Given the description of an element on the screen output the (x, y) to click on. 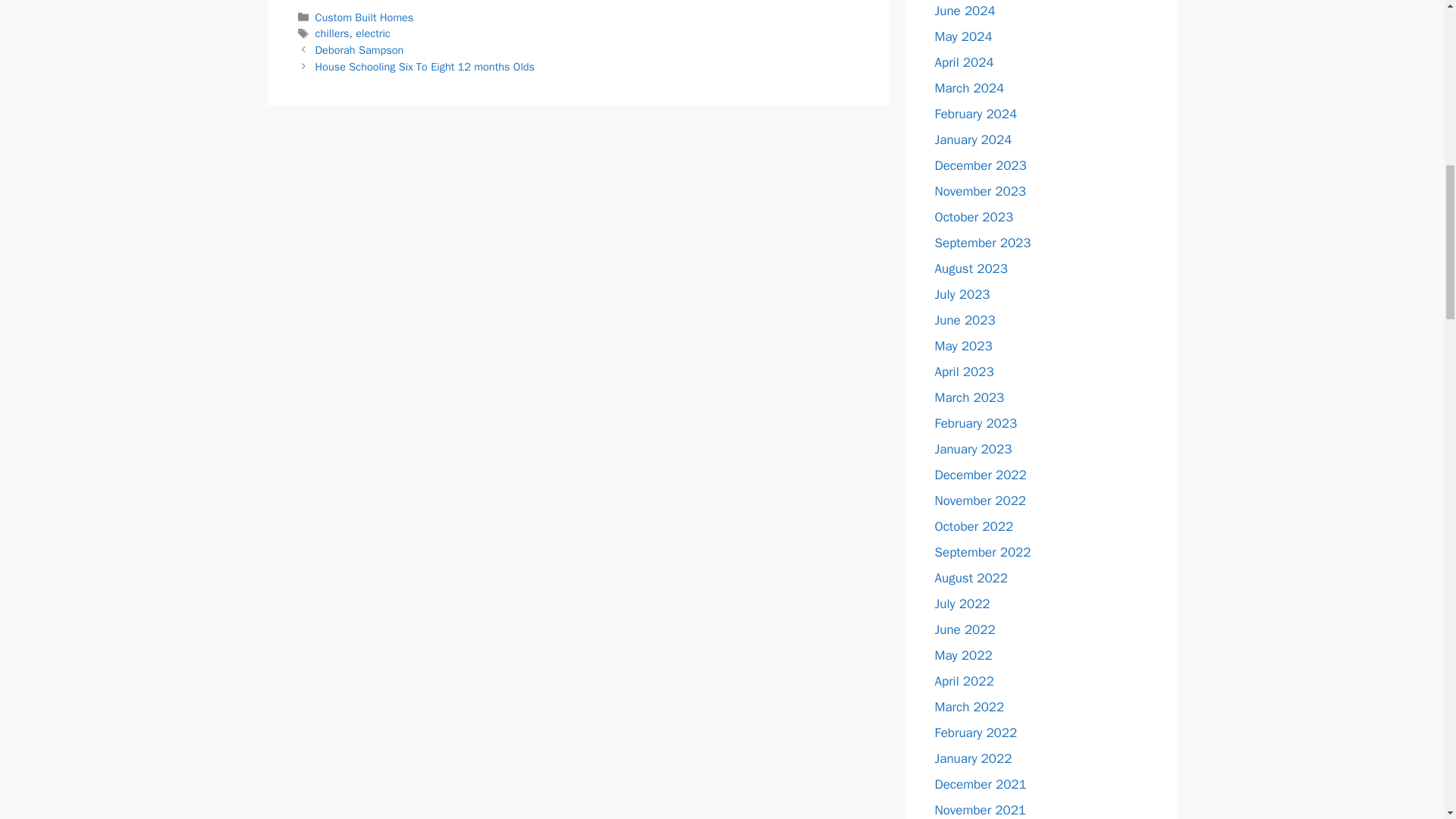
December 2023 (980, 165)
April 2024 (963, 62)
Custom Built Homes (364, 17)
chillers (332, 33)
House Schooling Six To Eight 12 months Olds (425, 66)
March 2024 (969, 88)
August 2023 (970, 268)
June 2024 (964, 10)
February 2024 (975, 114)
January 2024 (972, 139)
November 2023 (980, 191)
September 2023 (982, 242)
Deborah Sampson (359, 49)
October 2023 (973, 217)
May 2024 (962, 36)
